Given the description of an element on the screen output the (x, y) to click on. 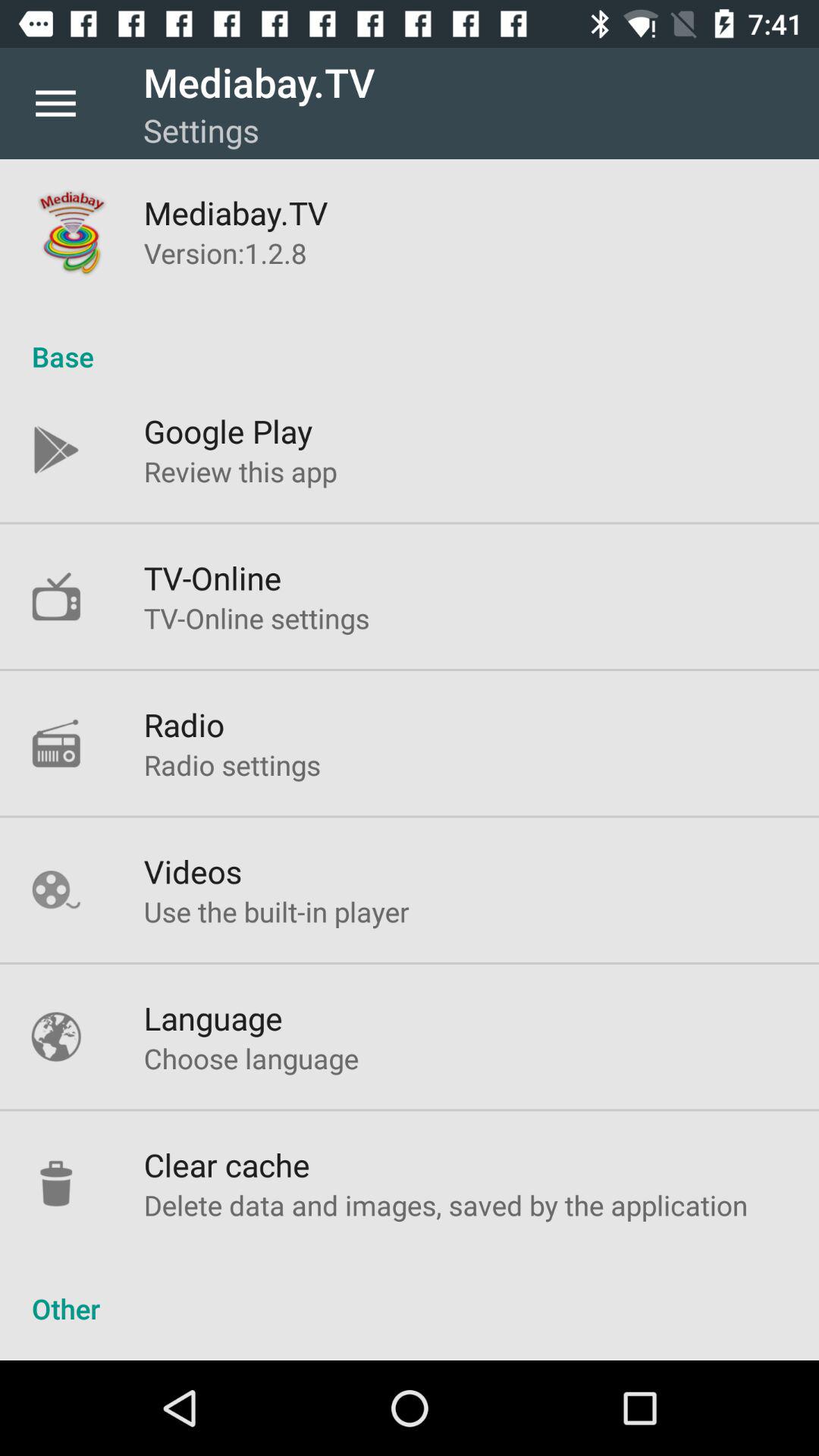
open the icon below base (227, 430)
